Given the description of an element on the screen output the (x, y) to click on. 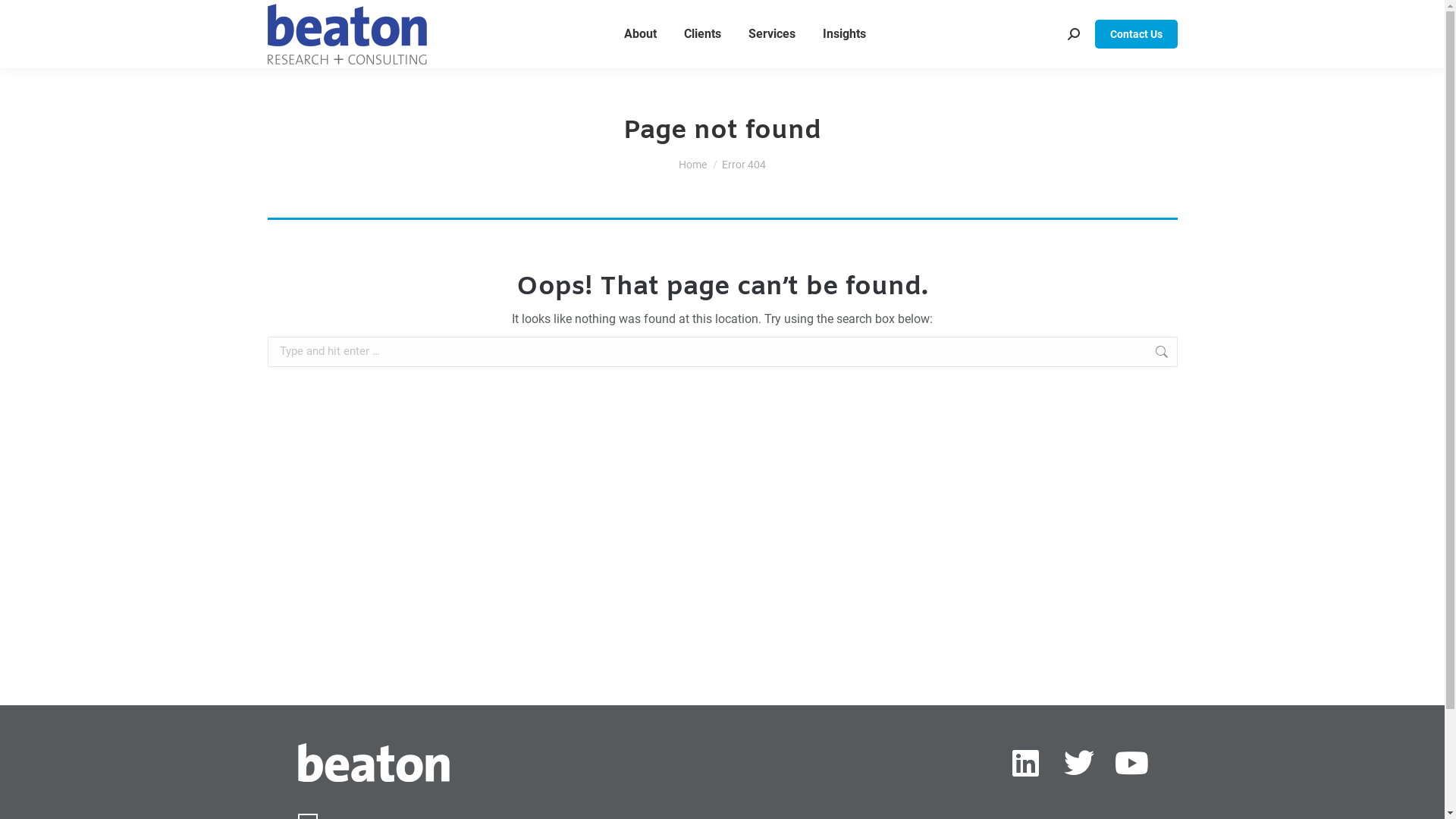
Home Element type: text (692, 164)
Go! Element type: text (1199, 353)
Insights Element type: text (844, 33)
About Element type: text (640, 33)
Services Element type: text (771, 33)
Contact Us Element type: text (1136, 33)
Beaton logo white Element type: hover (372, 762)
Clients Element type: text (702, 33)
Go! Element type: text (23, 16)
